Given the description of an element on the screen output the (x, y) to click on. 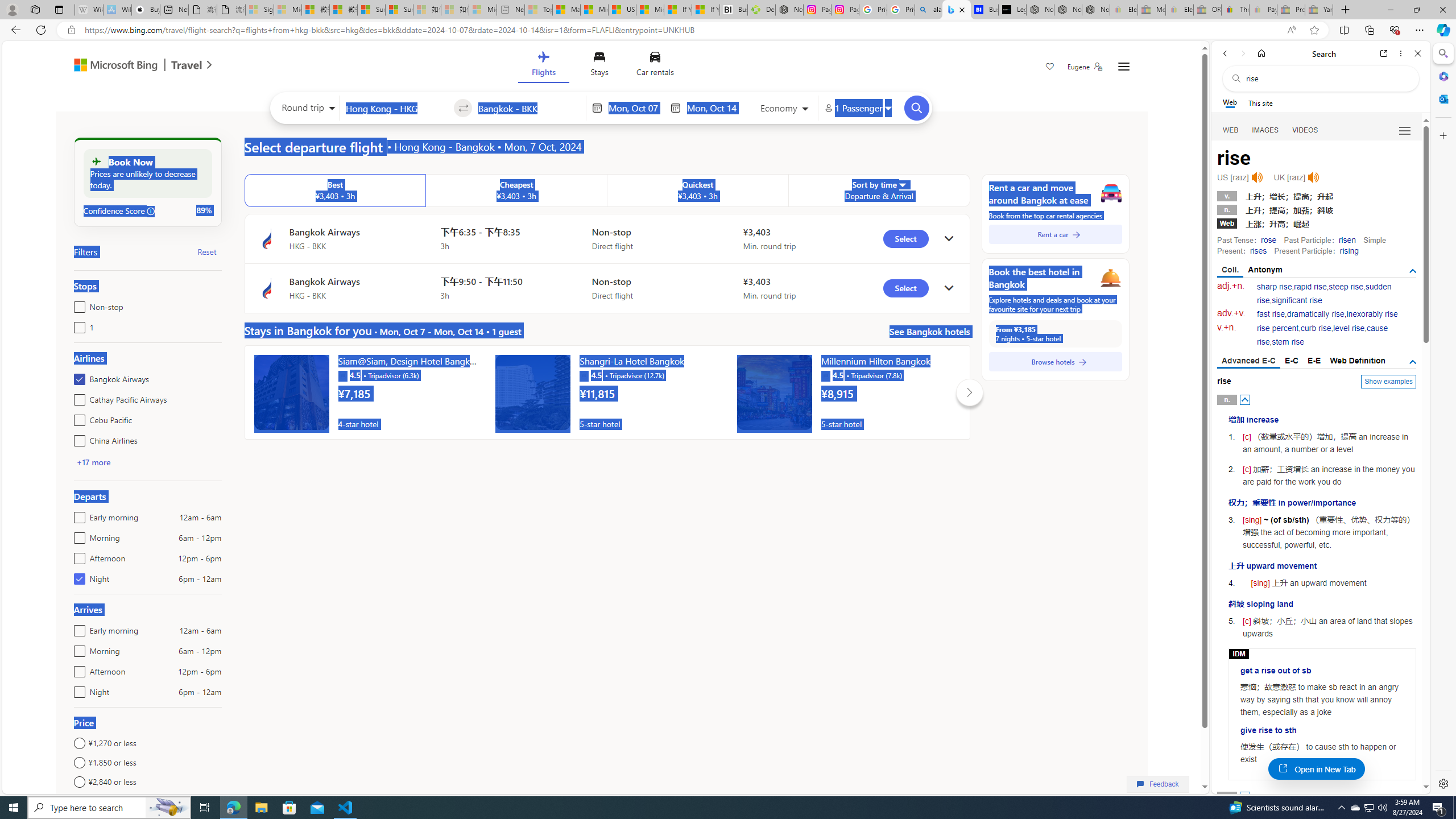
Wikipedia - Sleeping (88, 9)
stem rise (1287, 341)
hotel card image (774, 391)
Open link in new tab (1383, 53)
Night6pm - 12am (76, 689)
New tab - Sleeping (510, 9)
Microsoft Bing Travel (130, 65)
Click to scroll right (968, 392)
Select class of service (784, 109)
